Given the description of an element on the screen output the (x, y) to click on. 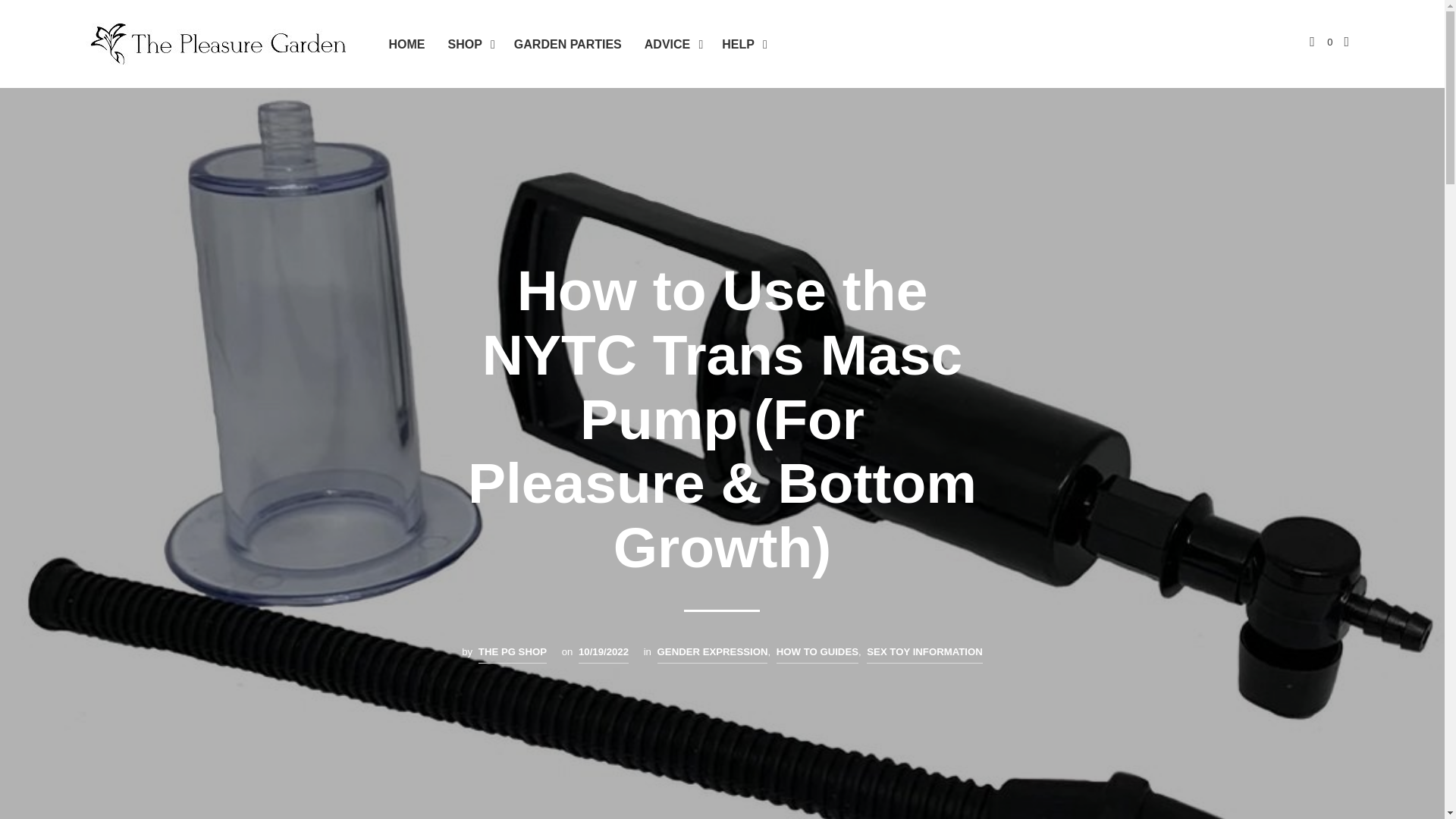
GARDEN PARTIES (567, 45)
THE PG SHOP (513, 653)
ADVICE (667, 45)
View all posts by The PG Shop (513, 653)
0 (1320, 42)
HELP (737, 45)
GENDER EXPRESSION (713, 653)
SHOP (464, 45)
HOME (406, 45)
